Given the description of an element on the screen output the (x, y) to click on. 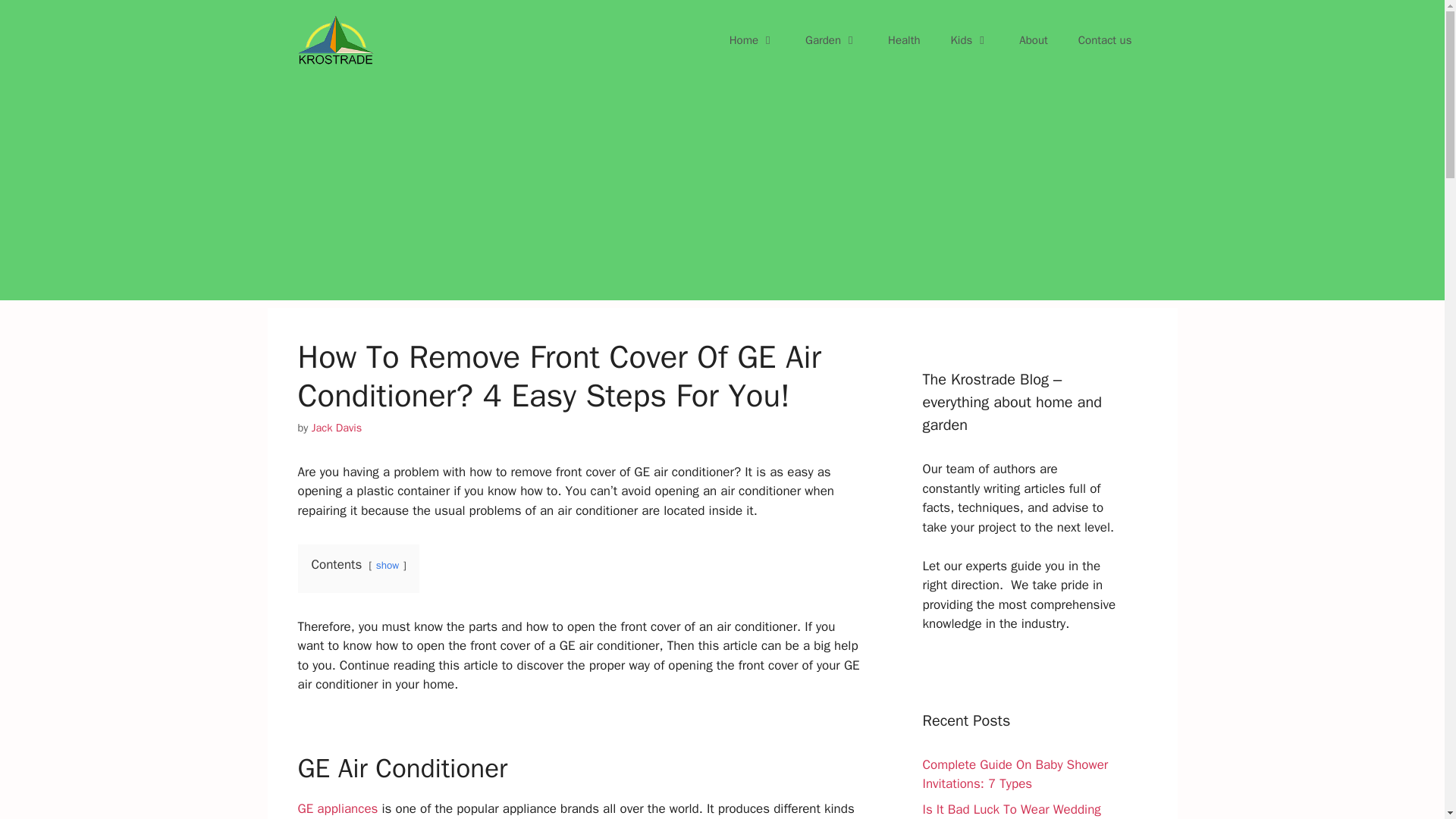
Kids (970, 40)
Health (904, 40)
Garden (831, 40)
Jack Davis (336, 427)
Contact us (1104, 40)
View all posts by Jack Davis (336, 427)
About (1033, 40)
Home (752, 40)
show (386, 564)
